Given the description of an element on the screen output the (x, y) to click on. 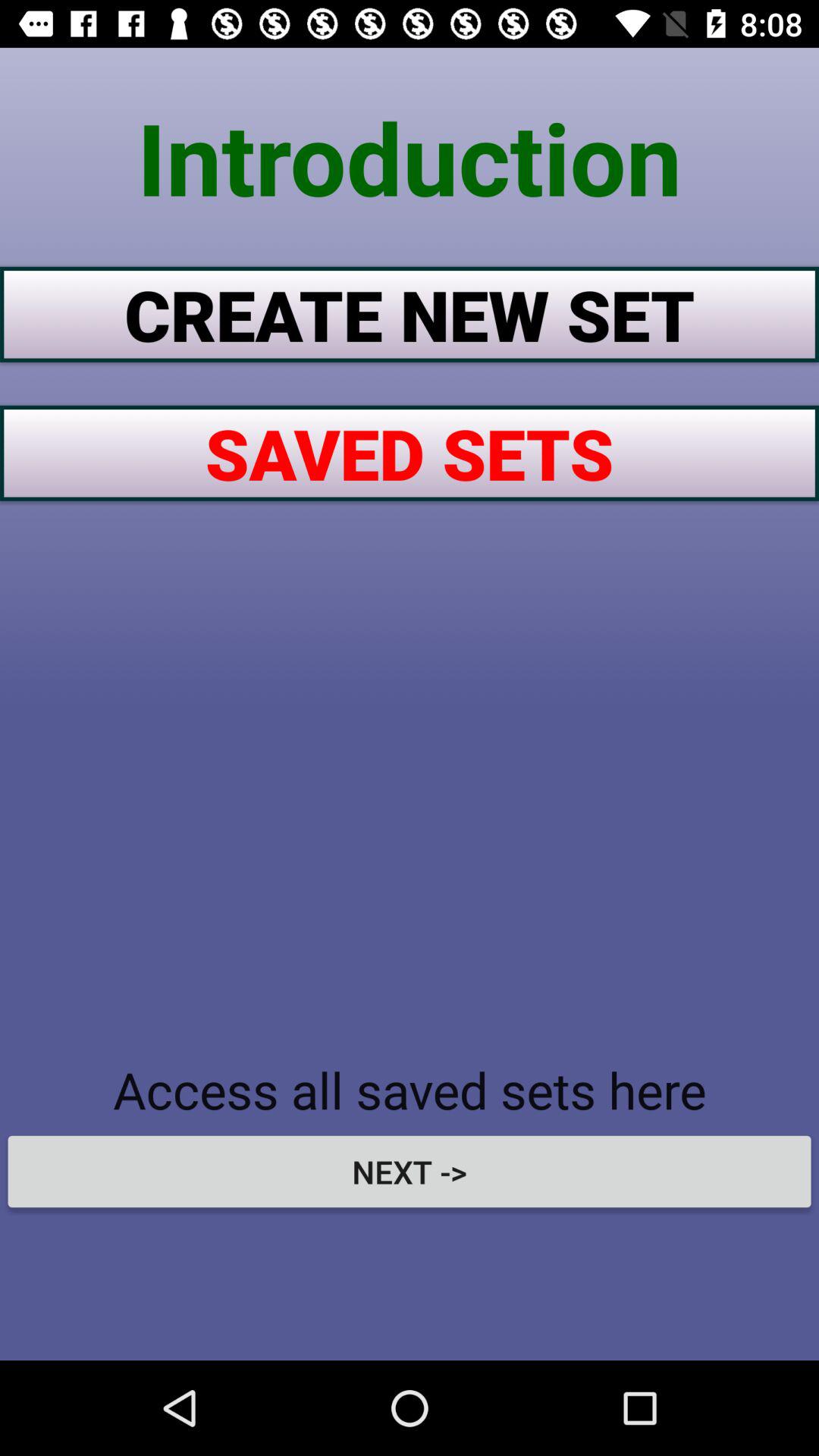
choose icon above saved sets (409, 314)
